Given the description of an element on the screen output the (x, y) to click on. 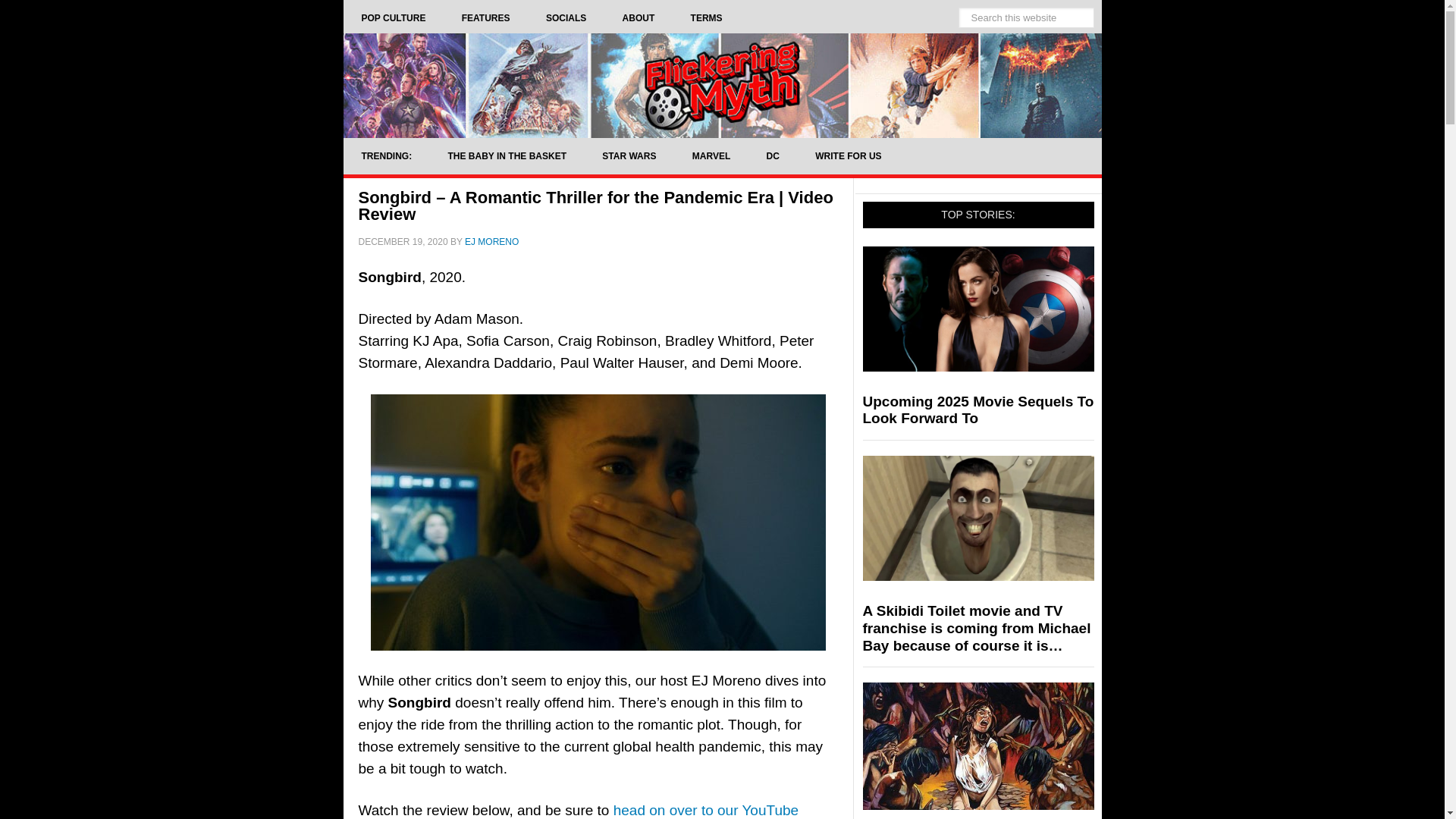
Pop Culture (393, 18)
SOCIALS (565, 18)
FEATURES (486, 18)
EJ MORENO (491, 241)
WRITE FOR US (847, 156)
Flickering Myth Social Media (565, 18)
TRENDING: (385, 156)
POP CULTURE (393, 18)
STAR WARS (628, 156)
FLICKERING MYTH (721, 85)
THE BABY IN THE BASKET (507, 156)
